Given the description of an element on the screen output the (x, y) to click on. 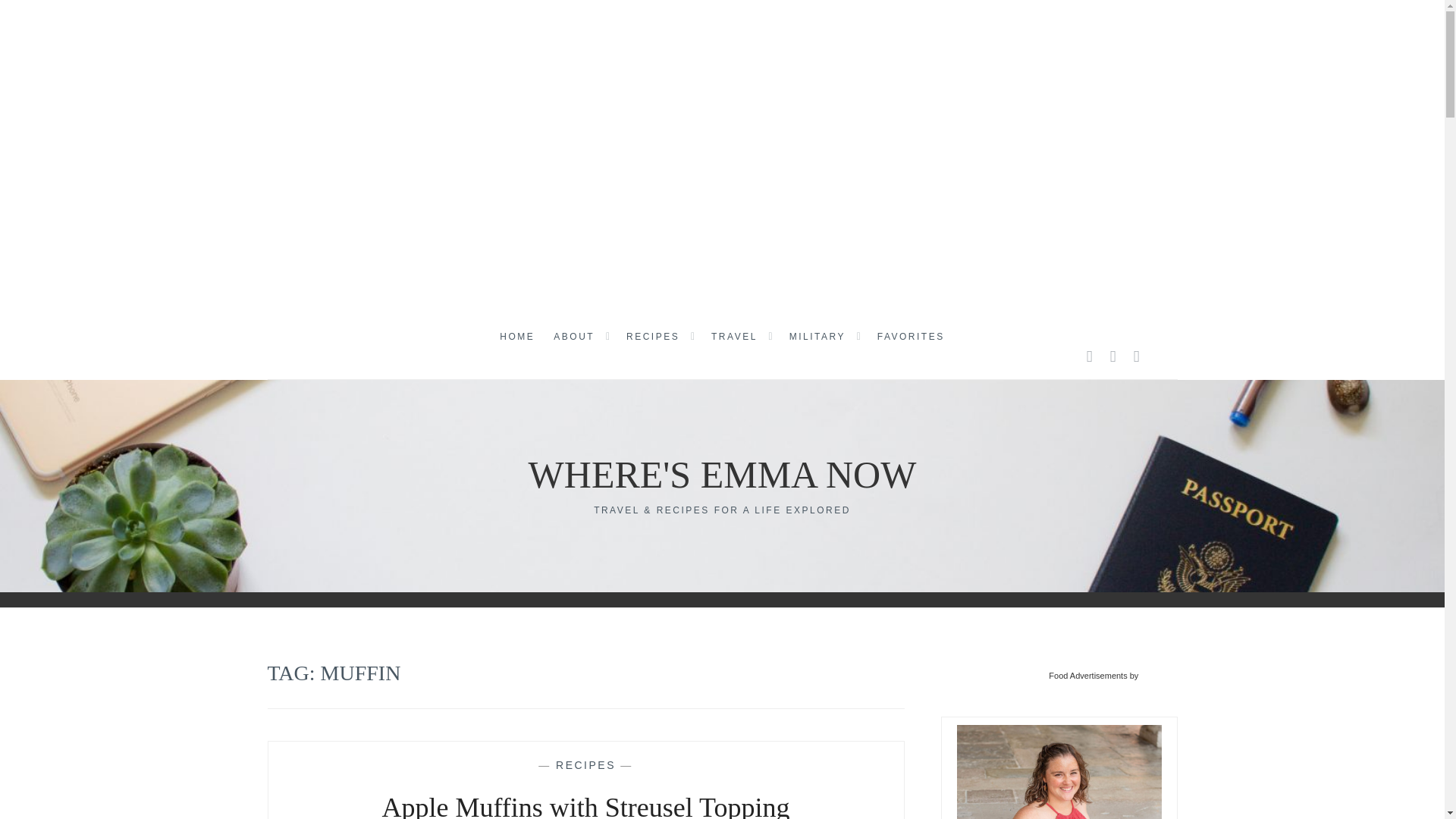
TRAVEL (734, 337)
RECIPES (585, 765)
ABOUT (573, 337)
WHERE'S EMMA NOW (722, 474)
HOME (516, 337)
RECIPES (652, 337)
Apple Muffins with Streusel Topping (585, 805)
FAVORITES (910, 337)
MILITARY (817, 337)
Food Advertisements (1087, 675)
